Given the description of an element on the screen output the (x, y) to click on. 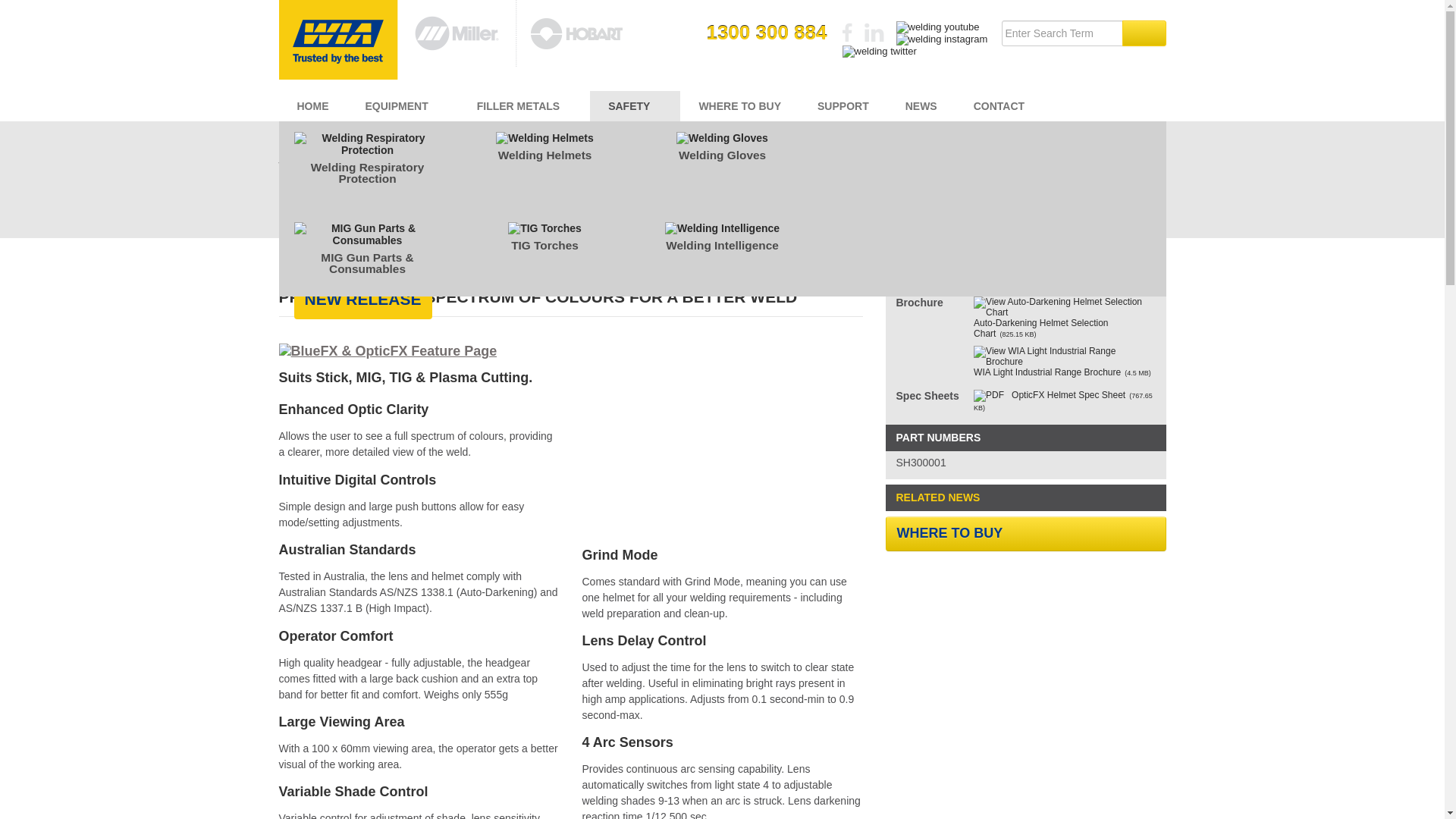
WIA OpticFX - Nero (570, 270)
1300 300 884 (766, 32)
TIG Torches (544, 245)
Wirefeeders (367, 199)
Engine Driven Welders (900, 155)
FILLER METALS (523, 105)
MIG Light Industrial (367, 155)
Induction Heating (722, 199)
Remote Controls (900, 199)
Plasma Cutters (544, 199)
Multi-Process Welders (1077, 155)
EQUIPMENT (402, 105)
Welding Intelligence (722, 245)
HOME (313, 105)
MIG Industrial (544, 155)
